Given the description of an element on the screen output the (x, y) to click on. 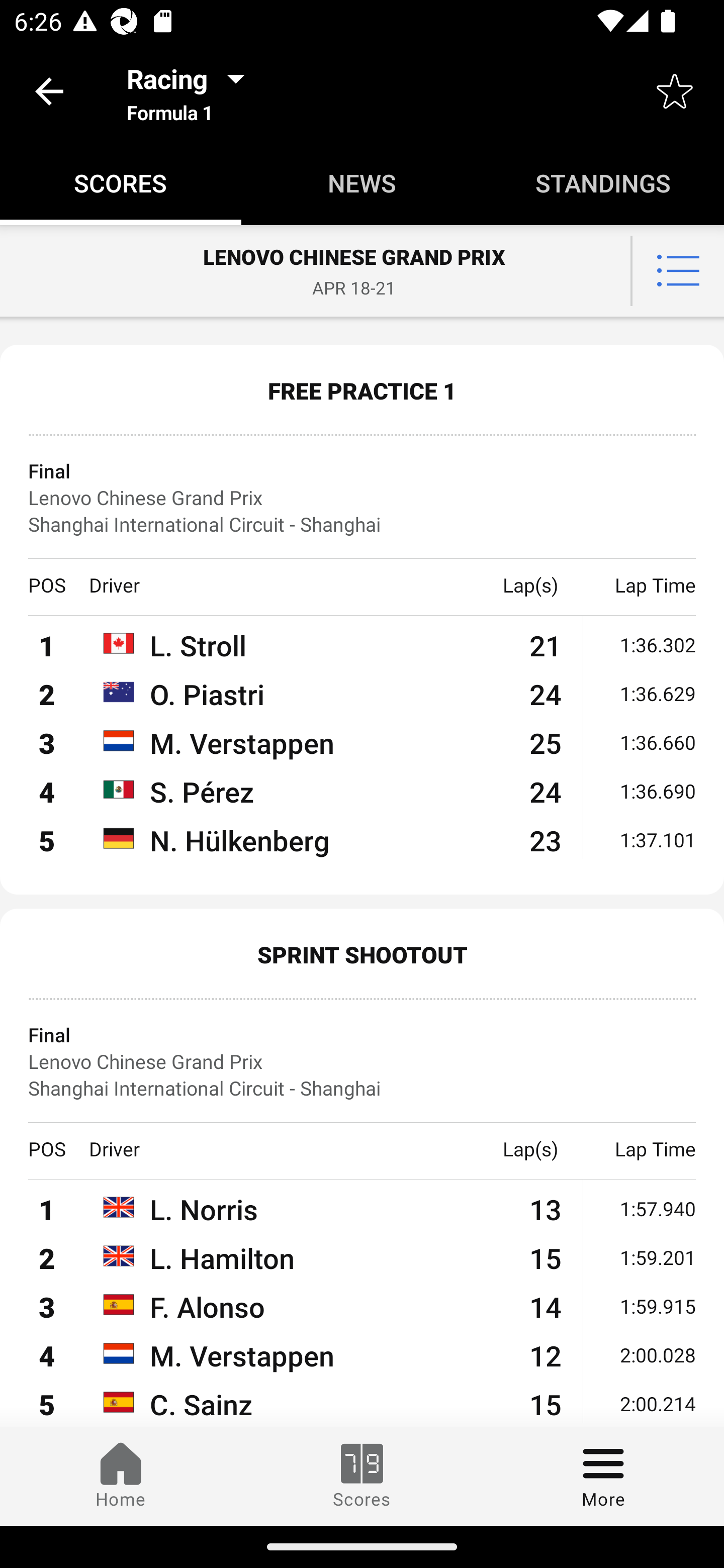
Racing Formula 1 (191, 90)
Favorite toggle (674, 90)
News NEWS (361, 183)
Standings STANDINGS (603, 183)
LENOVO CHINESE GRAND PRIX APR 18-21 ^ (362, 270)
FREE PRACTICE 1 (362, 389)
SPRINT SHOOTOUT (362, 953)
Home (120, 1475)
Scores (361, 1475)
